Given the description of an element on the screen output the (x, y) to click on. 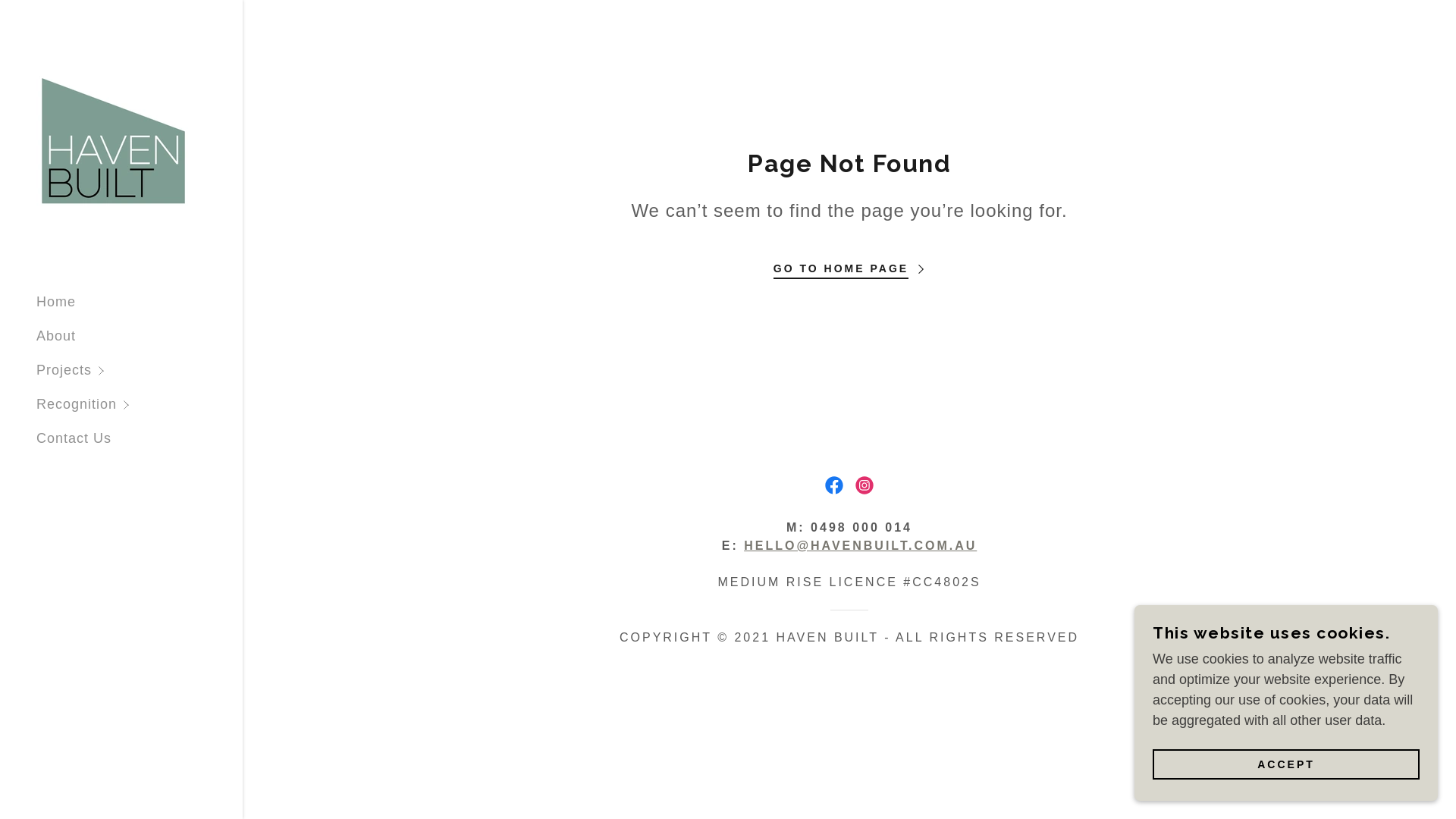
Projects Element type: text (139, 370)
HELLO@HAVENBUILT.COM.AU Element type: text (859, 545)
Recognition Element type: text (139, 404)
GO TO HOME PAGE Element type: text (849, 263)
ACCEPT Element type: text (1285, 764)
Haven Built Element type: hover (113, 139)
Contact Us Element type: text (73, 437)
Home Element type: text (55, 301)
About Element type: text (55, 335)
